Given the description of an element on the screen output the (x, y) to click on. 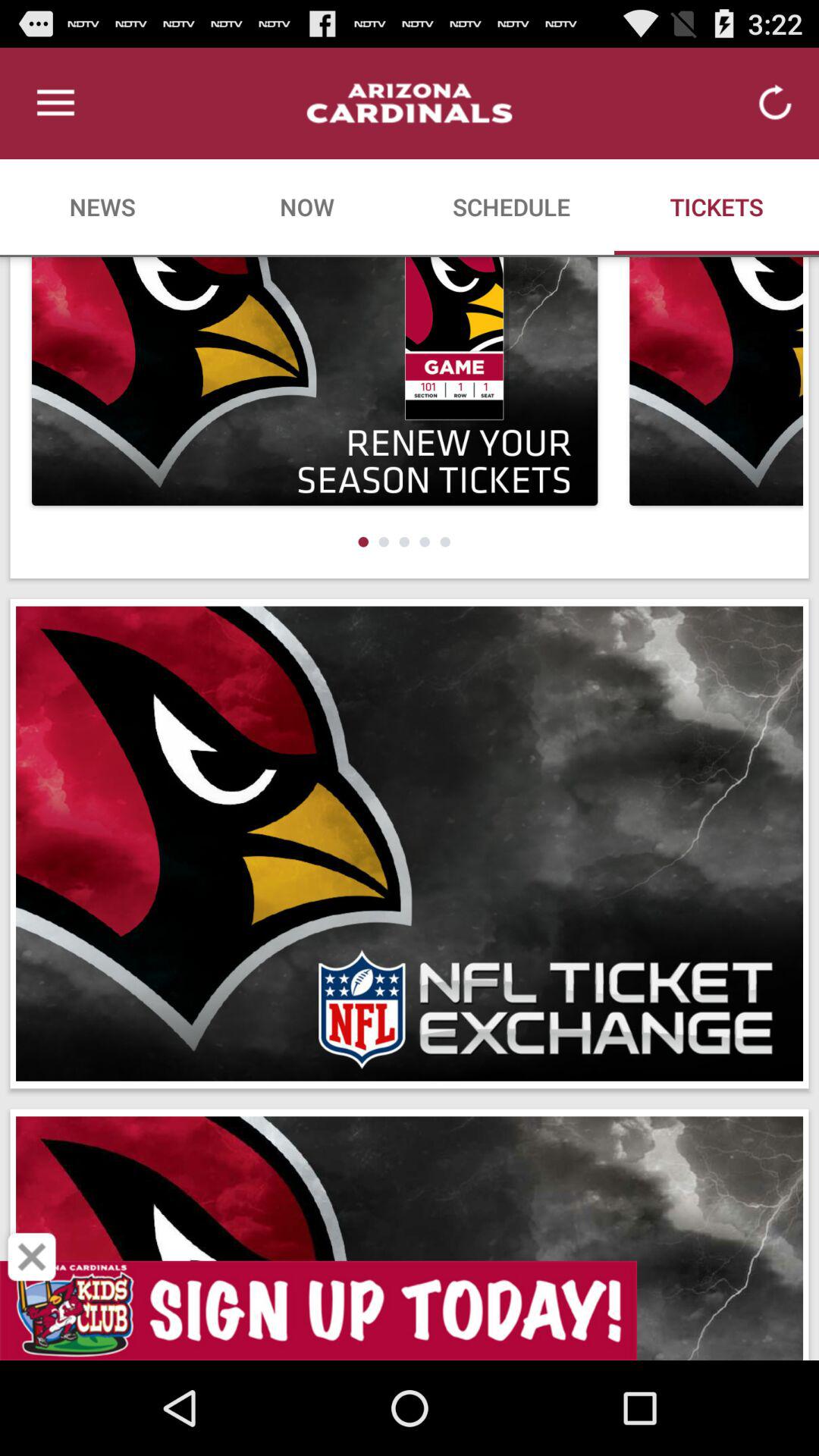
close (31, 1256)
